Given the description of an element on the screen output the (x, y) to click on. 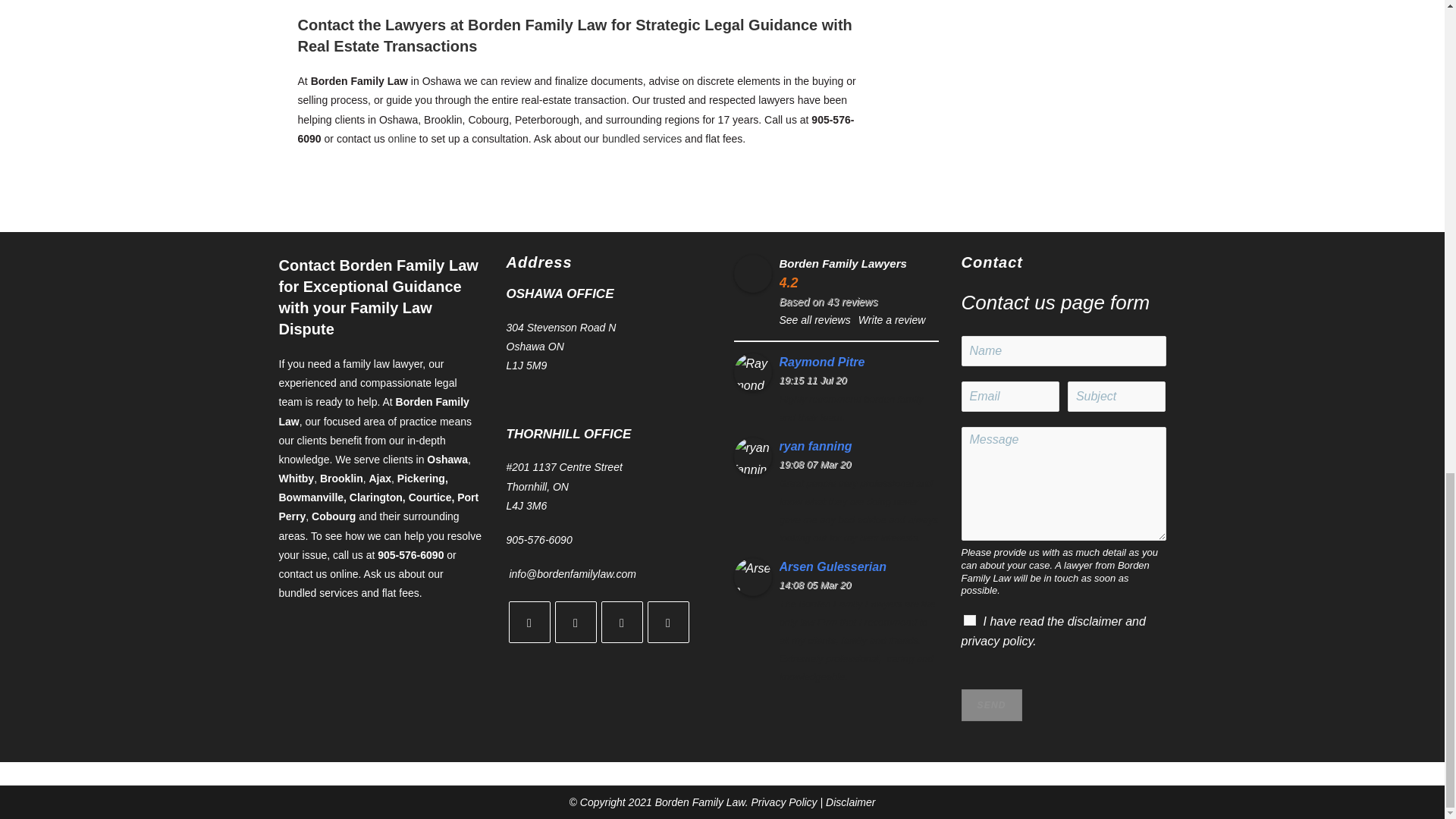
Arsen Gulesserian (752, 576)
ryan fanning (752, 456)
I have read the disclaimer and privacy policy. (968, 620)
ryan fanning (858, 446)
Raymond Pitre (858, 361)
Borden Family Lawyers (752, 273)
Arsen Gulesserian (858, 566)
Raymond Pitre (752, 371)
